Given the description of an element on the screen output the (x, y) to click on. 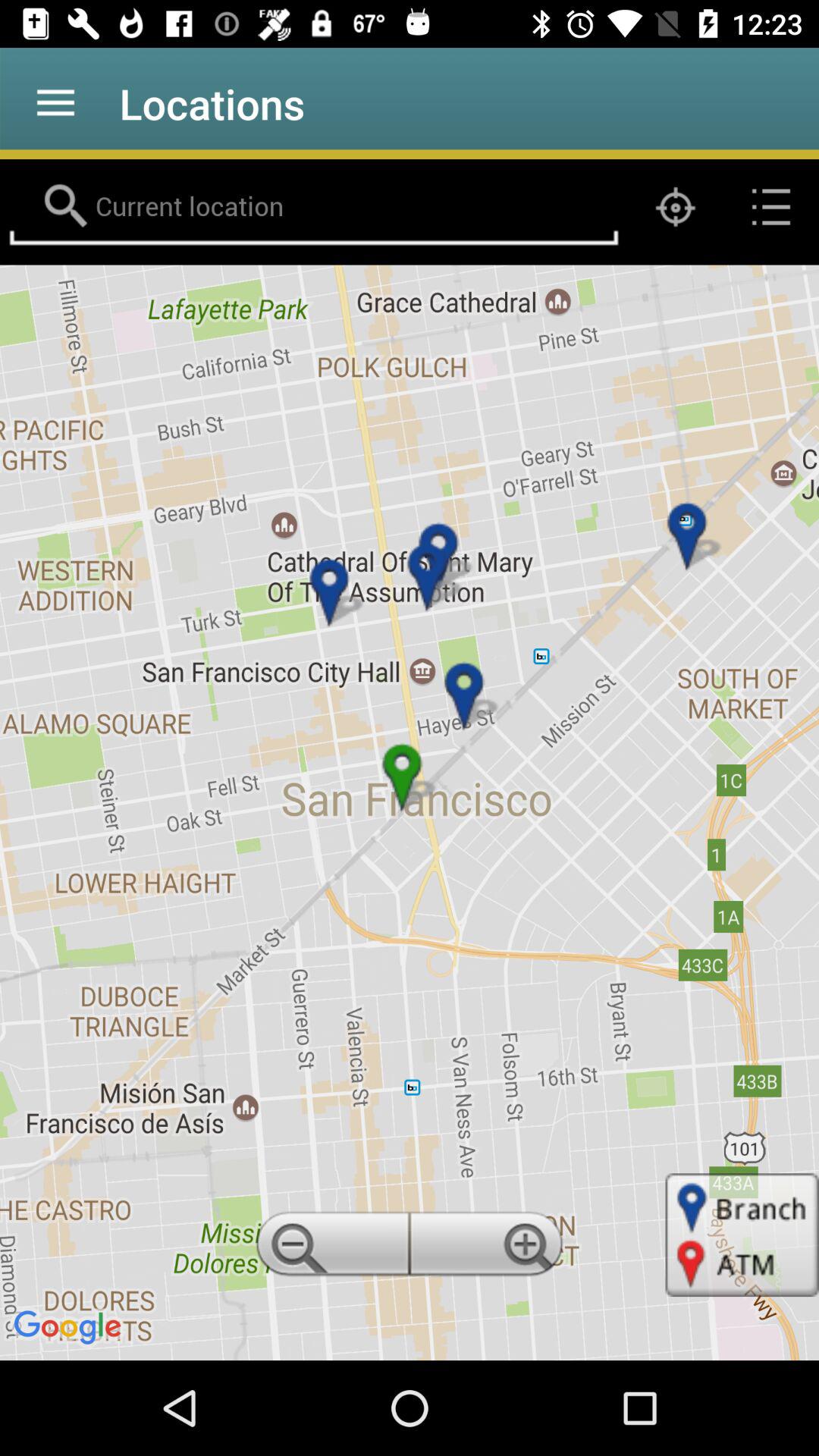
click the icon next to locations icon (55, 103)
